Given the description of an element on the screen output the (x, y) to click on. 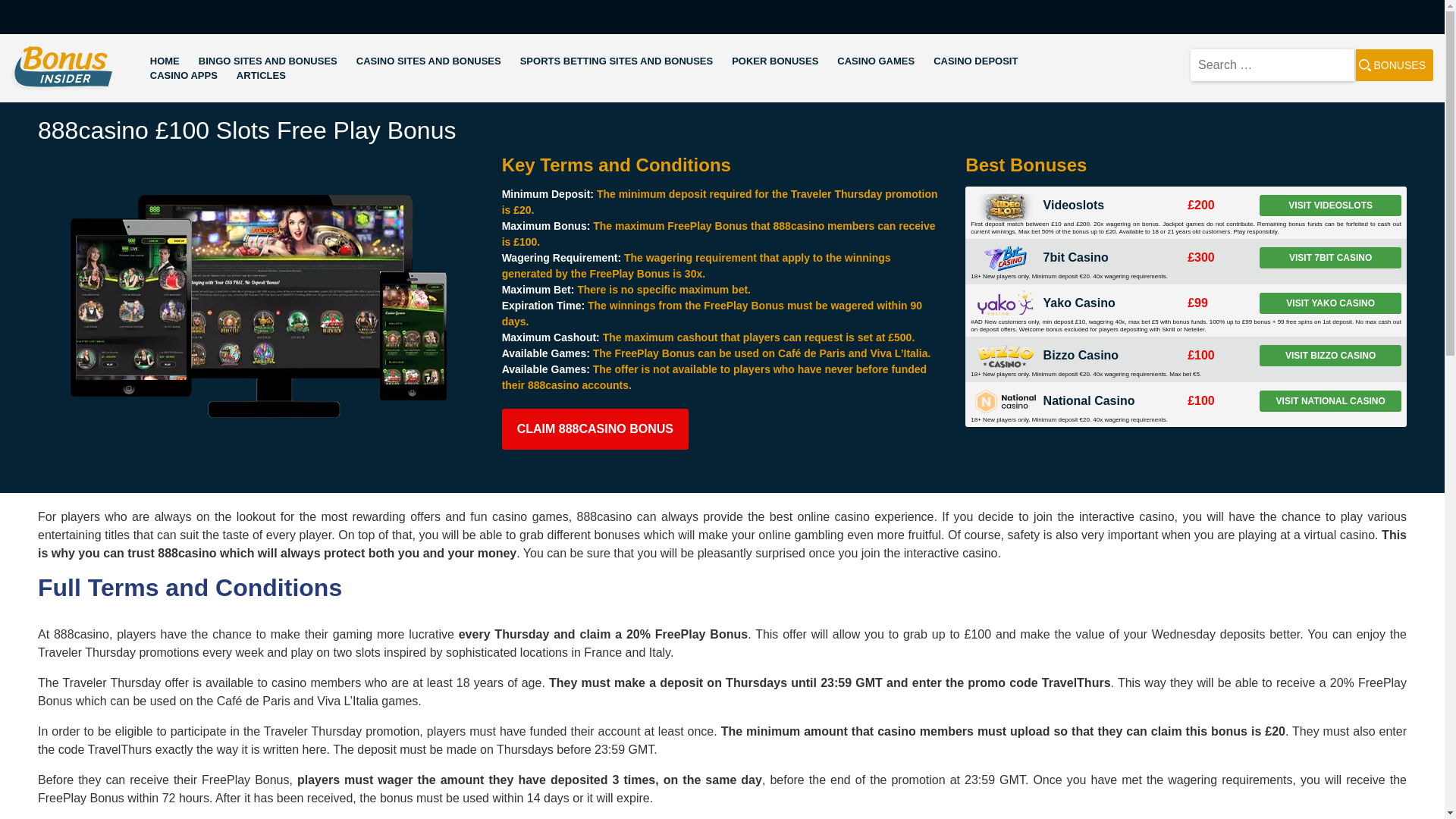
Bonuses (1393, 65)
Bonuses (1393, 65)
BINGO SITES AND BONUSES (267, 60)
Bonus Insider (48, 98)
HOME (164, 60)
Bonuses (1393, 65)
CASINO GAMES (875, 60)
SPORTS BETTING SITES AND BONUSES (616, 60)
CASINO APPS (182, 75)
CASINO SITES AND BONUSES (428, 60)
